Given the description of an element on the screen output the (x, y) to click on. 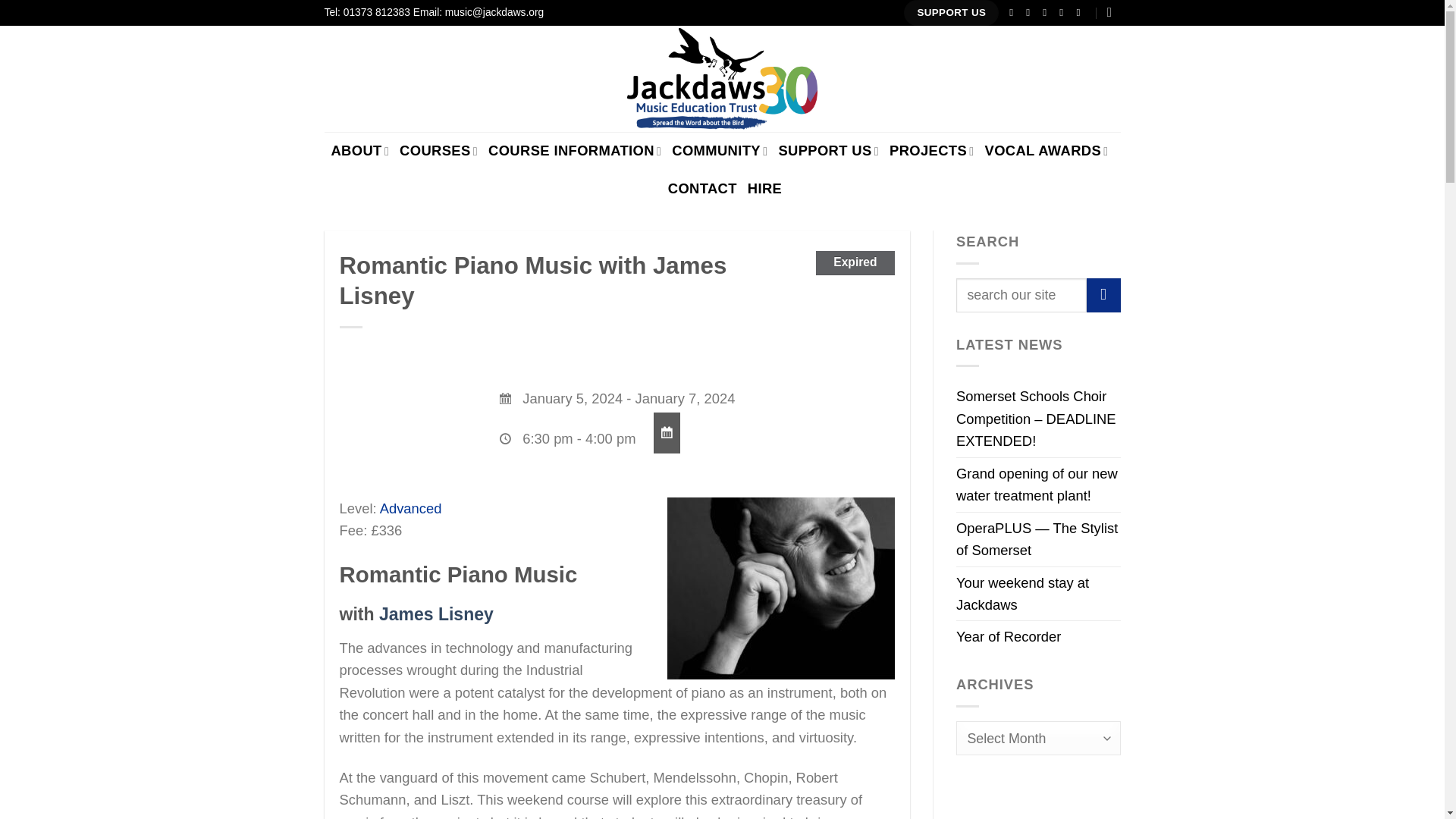
Follow on Instagram (1031, 12)
COMMUNITY (719, 150)
Send us an email (1064, 12)
Follow on Facebook (1014, 12)
Follow on Twitter (1047, 12)
COURSE INFORMATION (574, 150)
ABOUT (359, 150)
COURSES (437, 150)
Follow on YouTube (1080, 12)
SUPPORT US (951, 12)
